Given the description of an element on the screen output the (x, y) to click on. 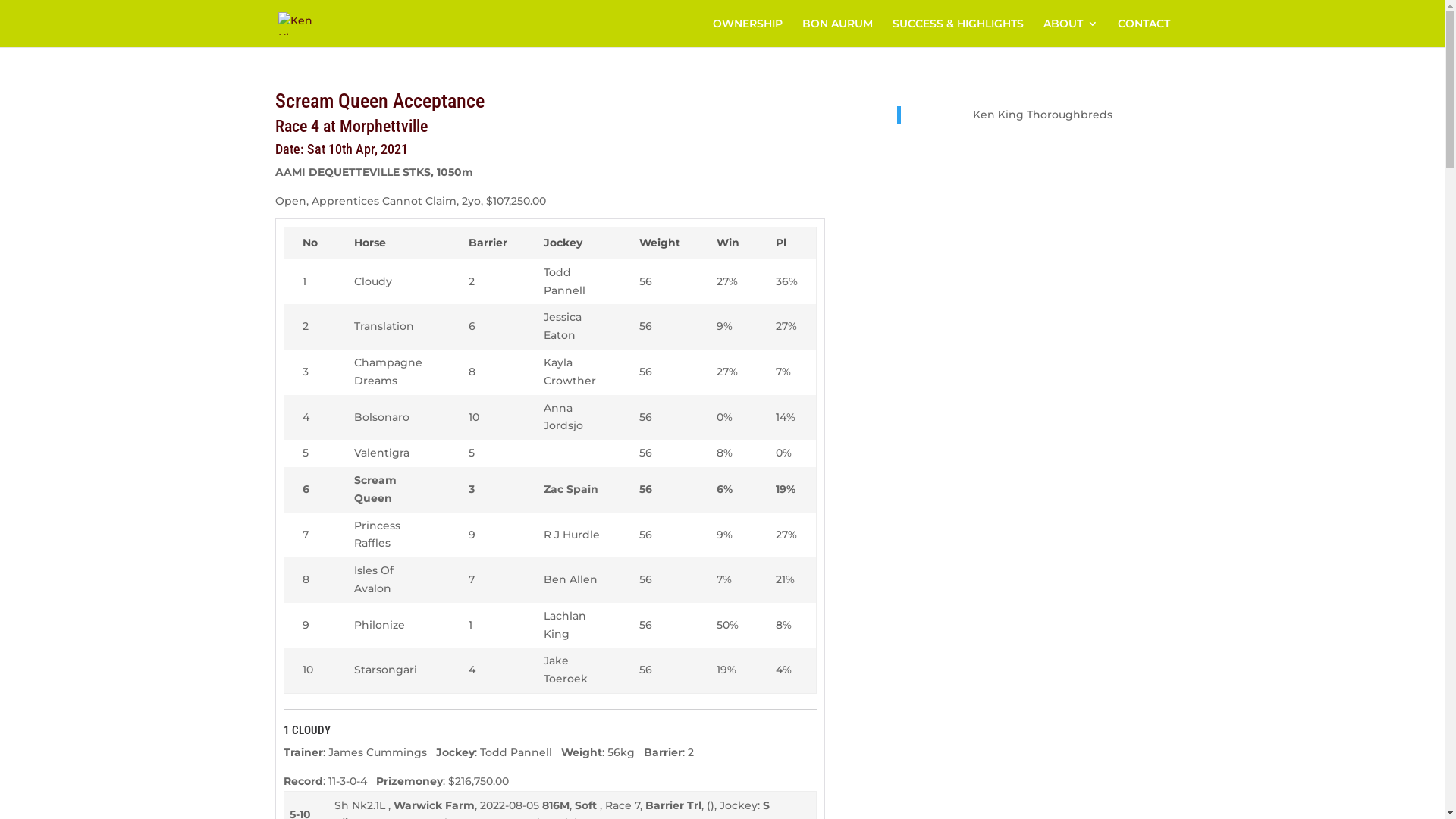
OWNERSHIP Element type: text (747, 32)
ABOUT Element type: text (1070, 32)
SUCCESS & HIGHLIGHTS Element type: text (956, 32)
BON AURUM Element type: text (837, 32)
CONTACT Element type: text (1143, 32)
Ken King Thoroughbreds Element type: text (1042, 114)
